Given the description of an element on the screen output the (x, y) to click on. 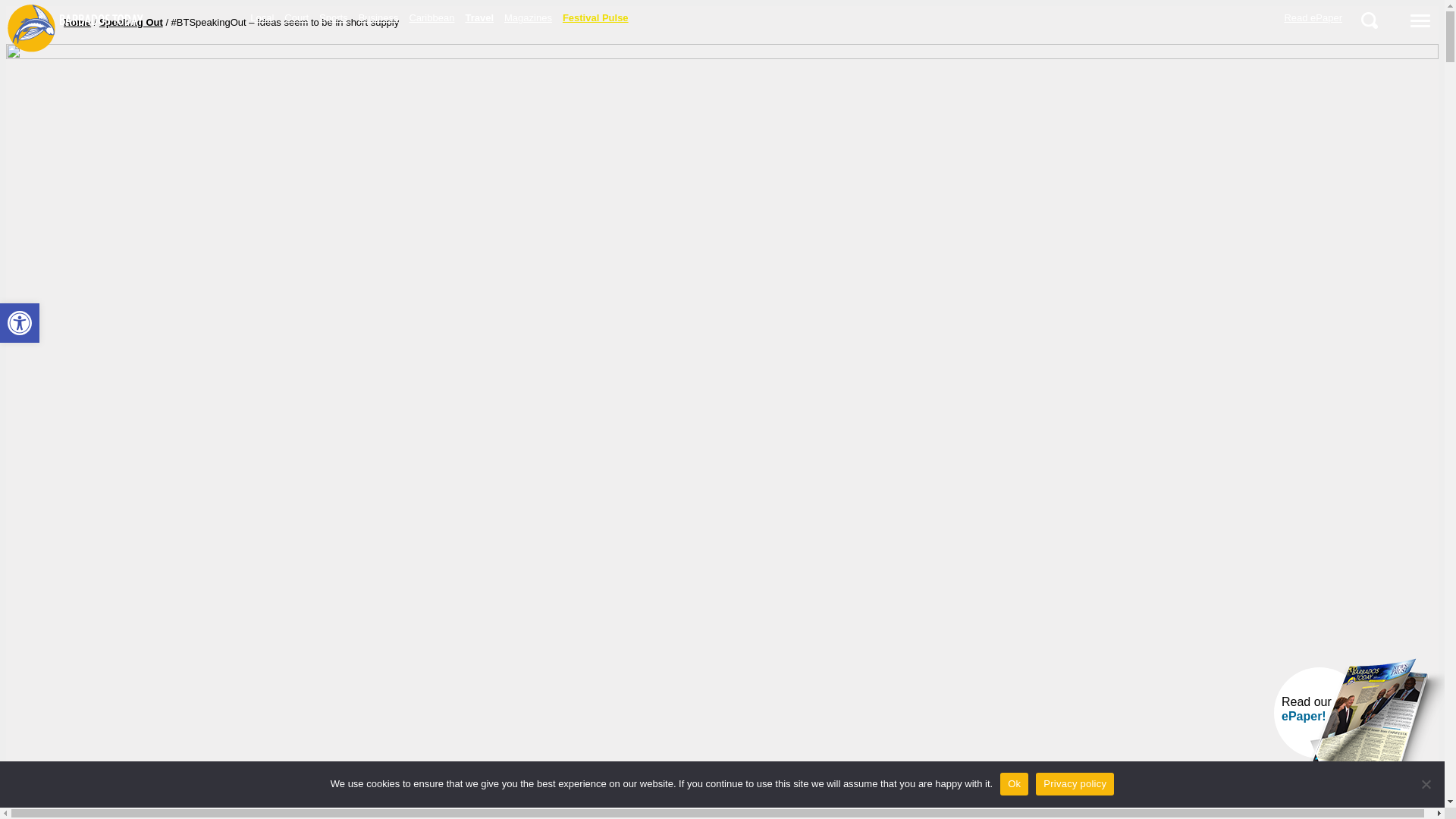
Read ePaper Element type: text (1312, 17)
Sports Element type: text (333, 17)
Ok Element type: text (1014, 782)
Speaking Out Element type: text (131, 22)
Festival Pulse Element type: text (595, 17)
Court Element type: text (296, 17)
Privacy policy Element type: text (1074, 782)
Open toolbar
Accessibility Tools Element type: text (19, 322)
Business Element type: text (378, 17)
Magazines Element type: text (527, 17)
Local Element type: text (214, 17)
Home Element type: text (77, 22)
Caribbean Element type: text (431, 17)
No Element type: hover (1425, 783)
Travel Element type: text (478, 17)
